Given the description of an element on the screen output the (x, y) to click on. 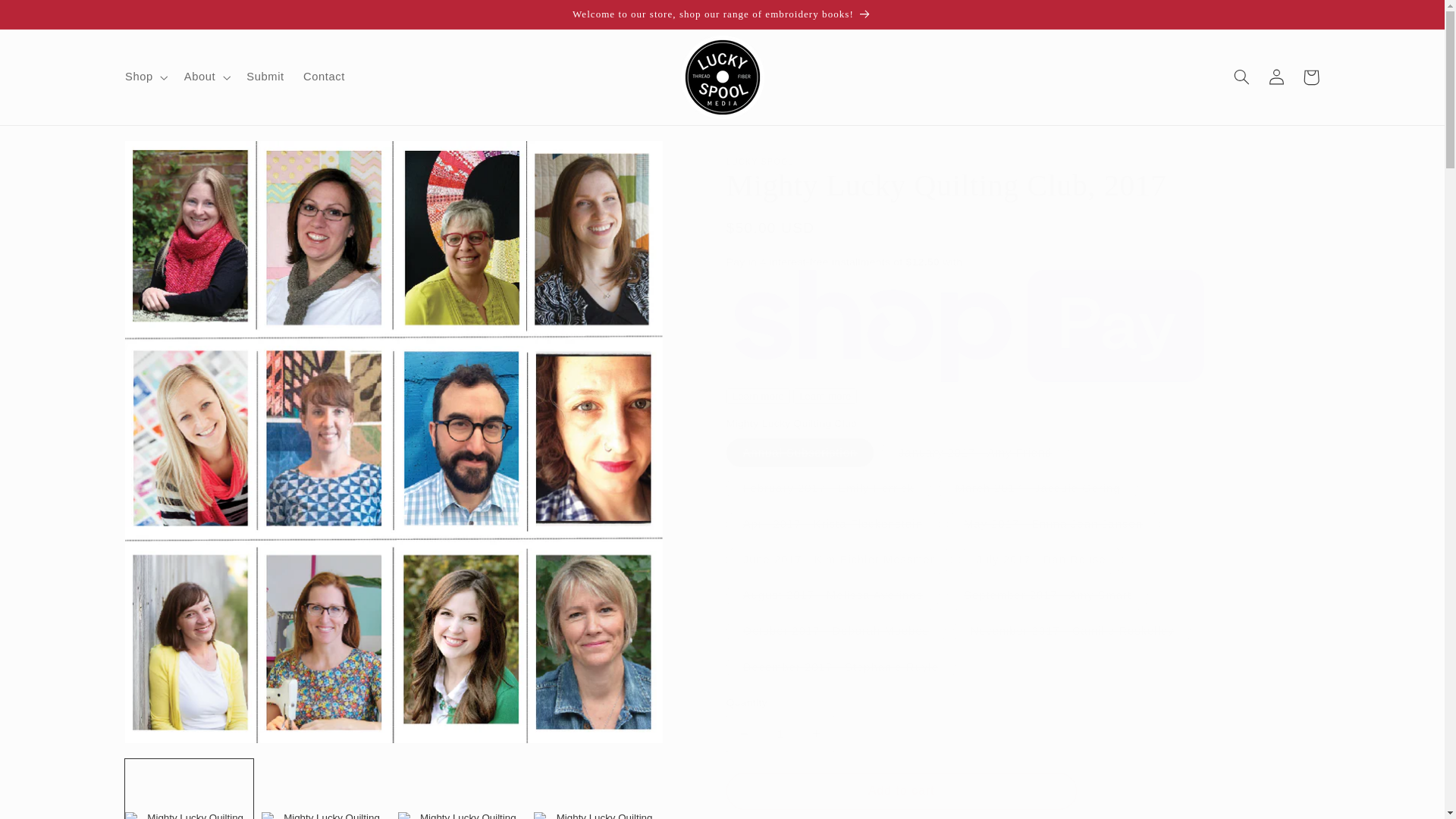
Log in (1276, 77)
1 (780, 733)
Skip to content (48, 18)
Contact (323, 77)
